Given the description of an element on the screen output the (x, y) to click on. 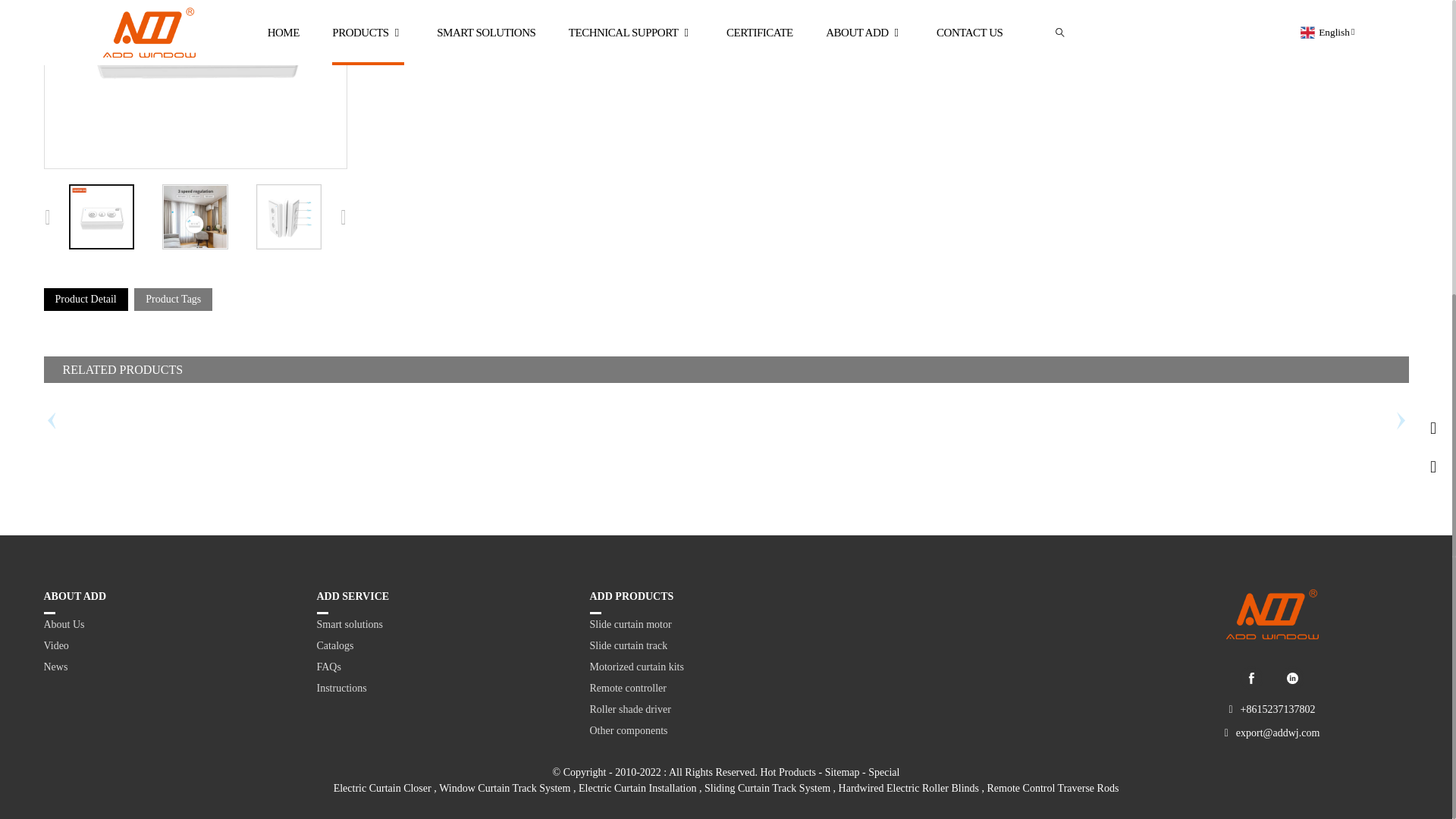
Electric Curtain Closer (381, 788)
Remote Control Traverse Rods (1053, 788)
Window Curtain Track System (504, 788)
HUNTER 101 Remote to work with Smart Curtain Motor (288, 216)
HUNTER 101 Remote to work with Smart Curtain Motor (100, 216)
Sliding Curtain Track System (766, 788)
Hardwired Electric Roller Blinds (908, 788)
HUNTER 101 Remote to work with Smart Curtain Motor (194, 216)
HUNTER 101 Remote to work with Smart Curtain Motor (194, 84)
HUNTER 101 Remote to work with Smart Curtain Motor (100, 216)
